Given the description of an element on the screen output the (x, y) to click on. 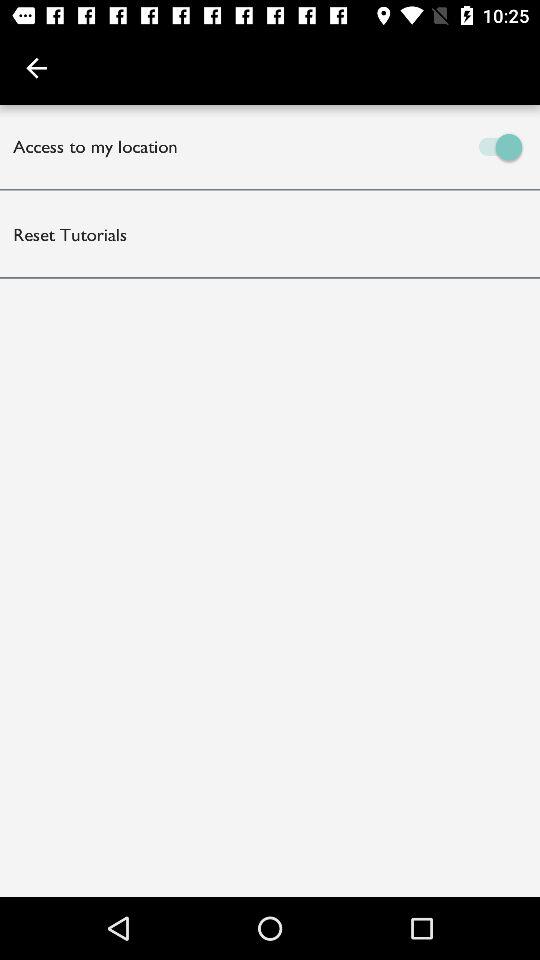
toggle location permission (405, 146)
